Given the description of an element on the screen output the (x, y) to click on. 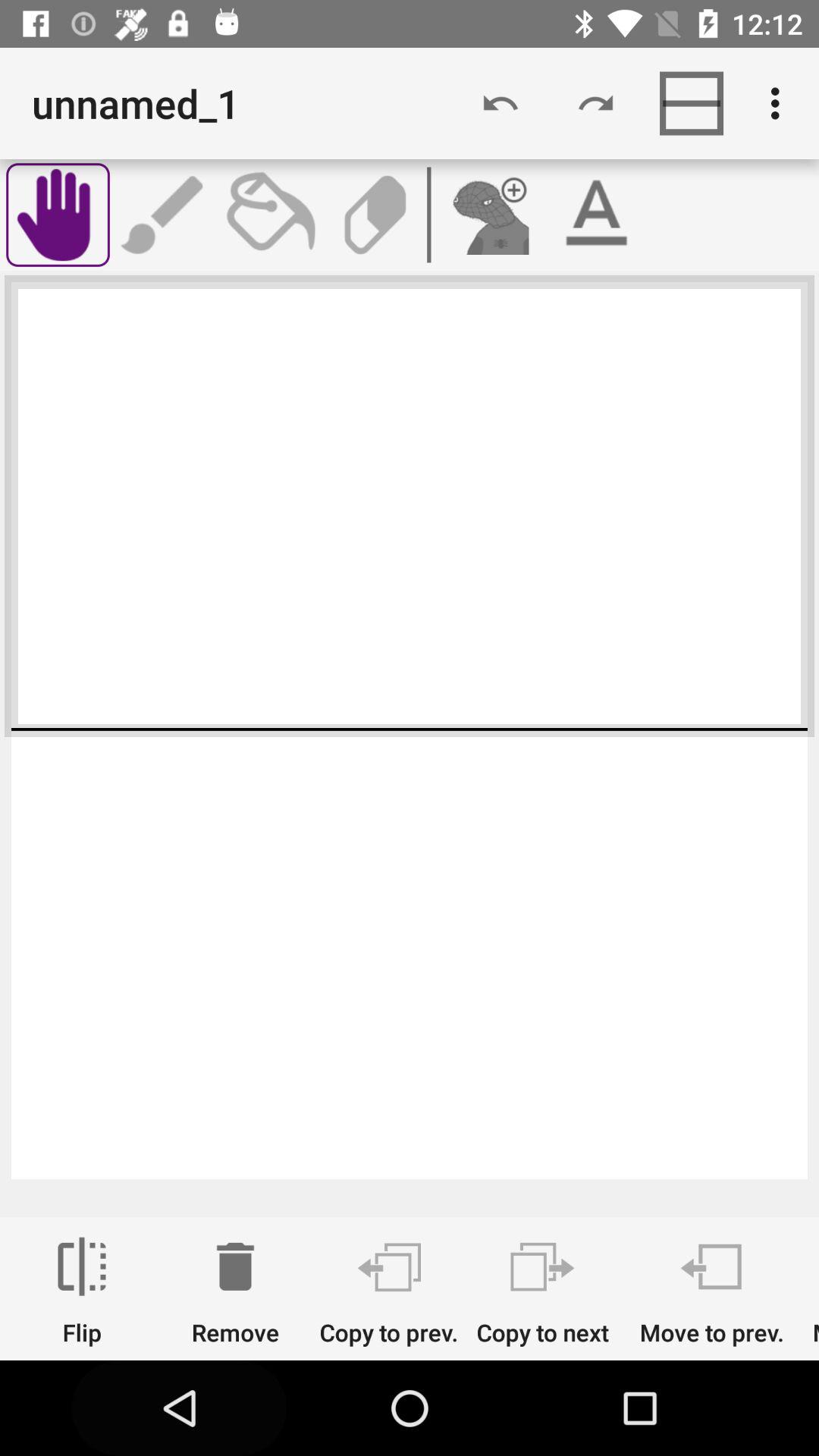
paint lines (163, 214)
